Given the description of an element on the screen output the (x, y) to click on. 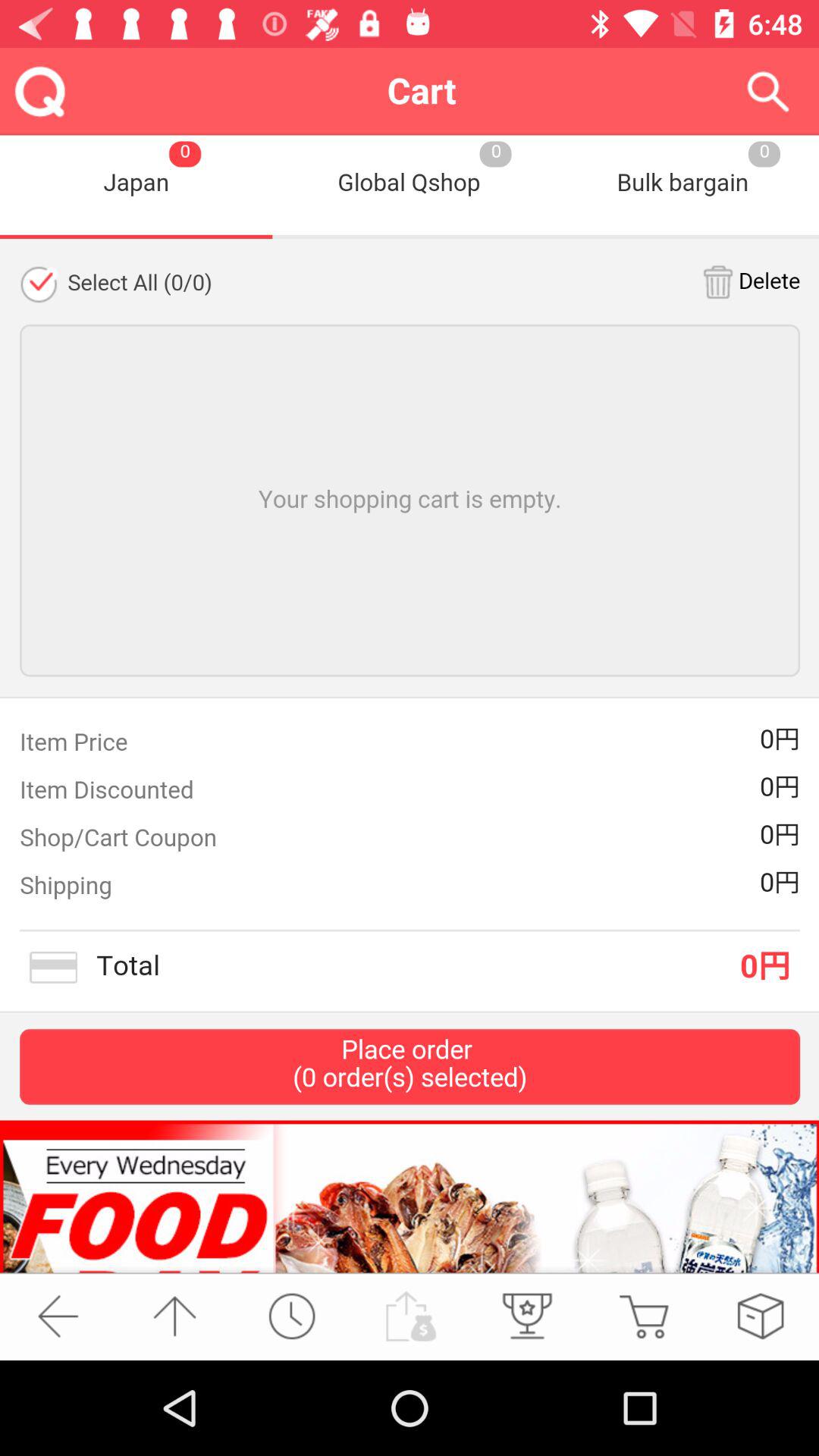
select the last icon which is at the bottom right corner (760, 1316)
click on the third icon from bottom left side of the page (525, 1316)
go to the icon top right corner (767, 90)
click to add into cart (642, 1316)
